Given the description of an element on the screen output the (x, y) to click on. 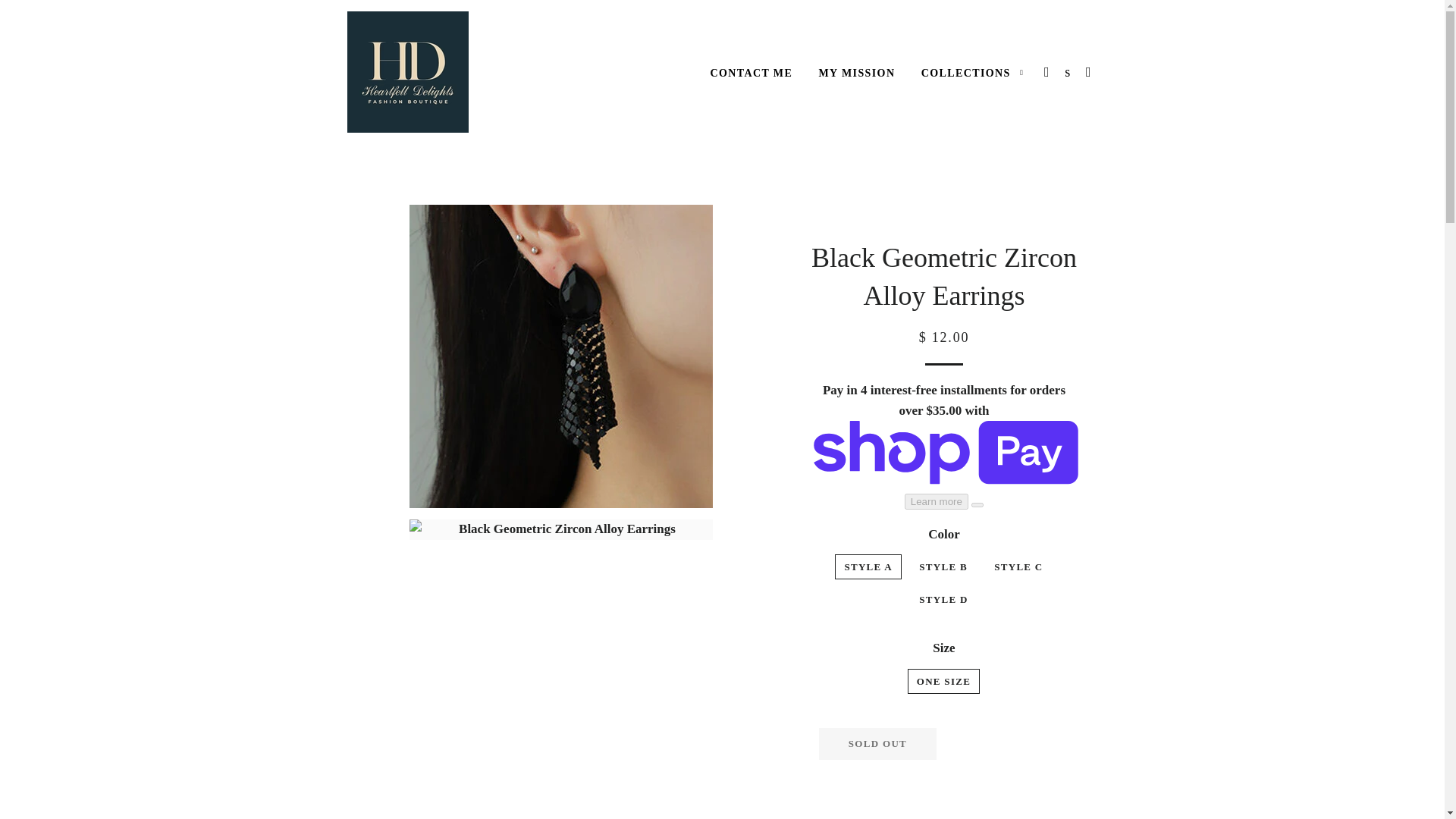
COLLECTIONS (972, 73)
MY MISSION (855, 73)
CONTACT ME (750, 73)
